Given the description of an element on the screen output the (x, y) to click on. 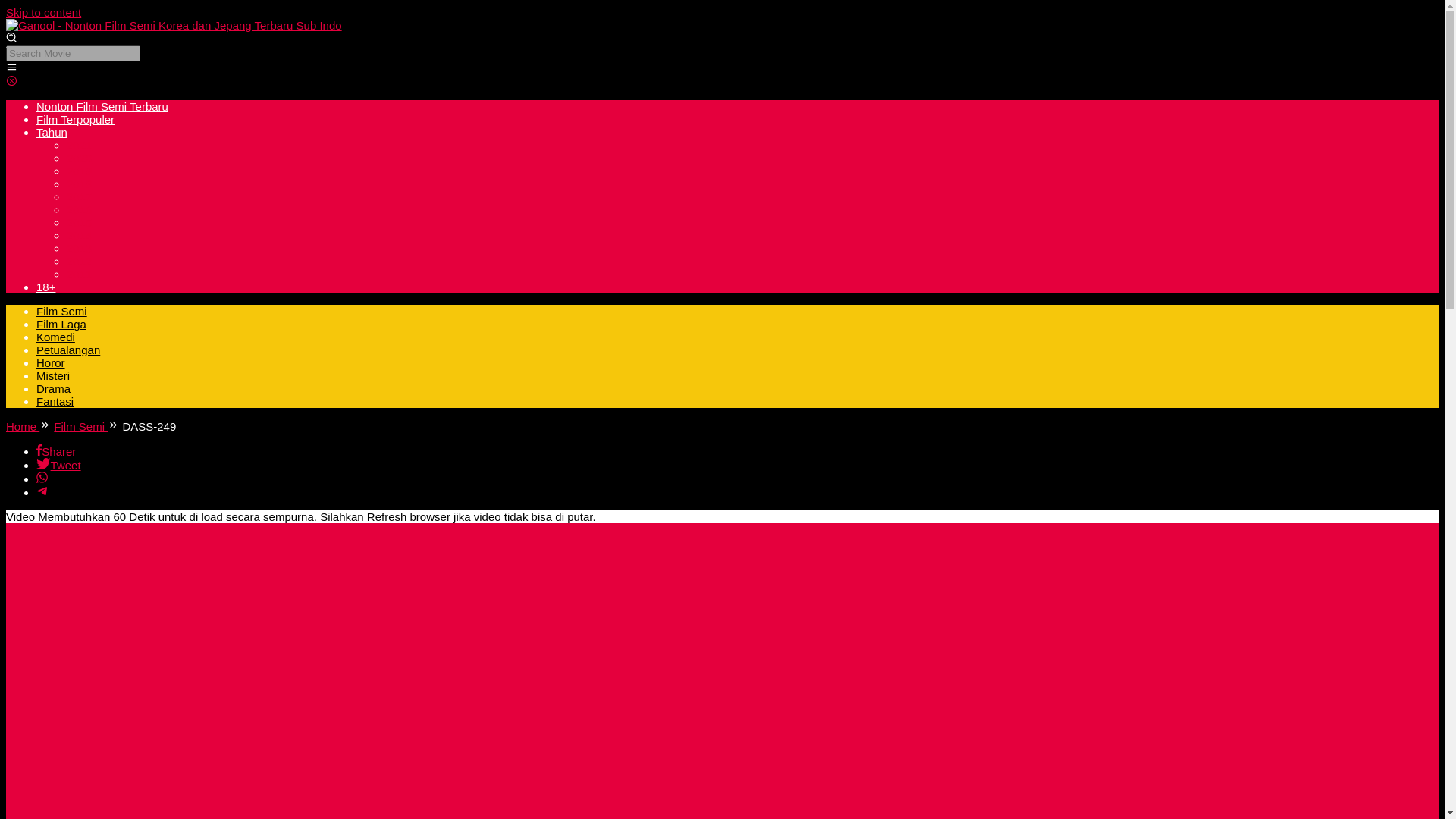
Tweet this (58, 464)
Skip to content (43, 11)
2020 (78, 157)
Horor (50, 362)
Sharer (55, 451)
Ganool - Nonton Film Semi Korea dan Jepang Terbaru Sub Indo (173, 24)
2017 (78, 196)
Nonton Film Semi Terbaru (102, 106)
Tahun (51, 132)
Film Laga (60, 323)
2016 (78, 209)
Tweet (58, 464)
2019 (78, 170)
Misteri (52, 375)
Film Terpopuler (75, 119)
